Given the description of an element on the screen output the (x, y) to click on. 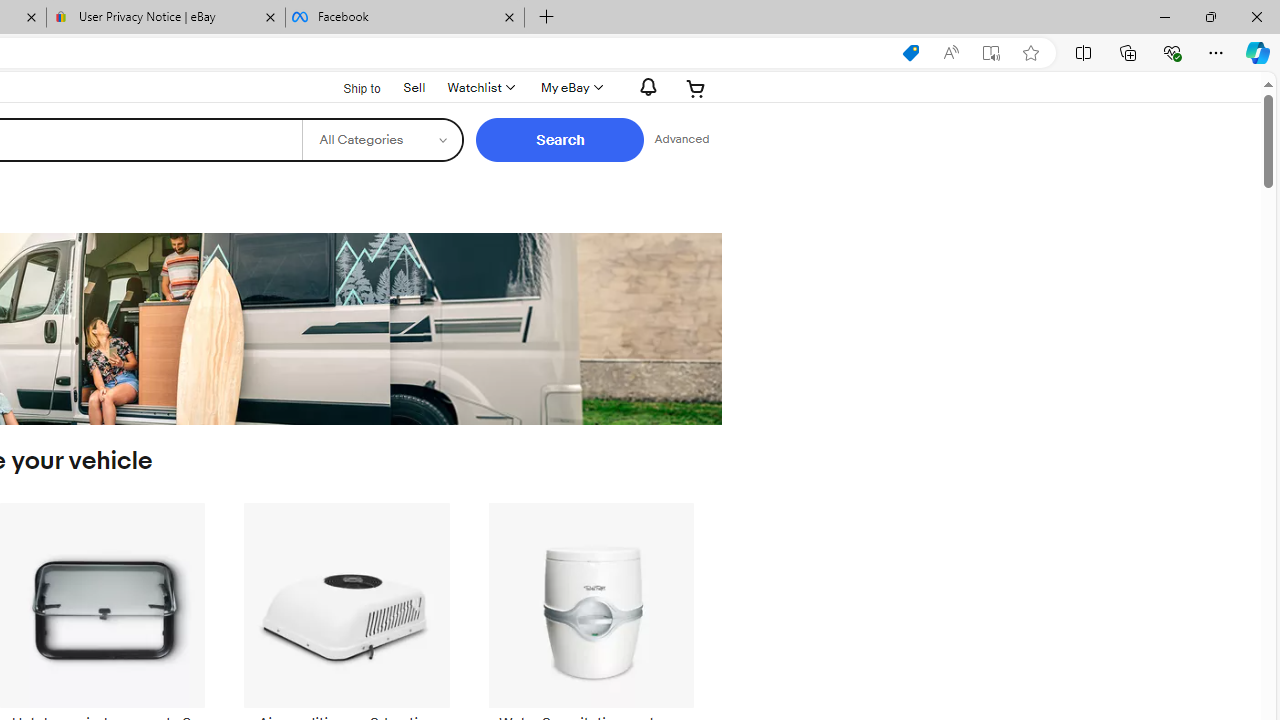
Settings and more (Alt+F) (1215, 52)
Close tab (509, 16)
My eBayExpand My eBay (569, 88)
Facebook (404, 17)
Read aloud this page (Ctrl+Shift+U) (950, 53)
Browser essentials (1171, 52)
Advanced Search (681, 139)
Copilot (Ctrl+Shift+.) (1258, 52)
Restore (1210, 16)
Collections (1128, 52)
Watchlist (479, 88)
Expand Cart (696, 88)
Search (560, 140)
Select a category for search (382, 139)
Close (1256, 16)
